Given the description of an element on the screen output the (x, y) to click on. 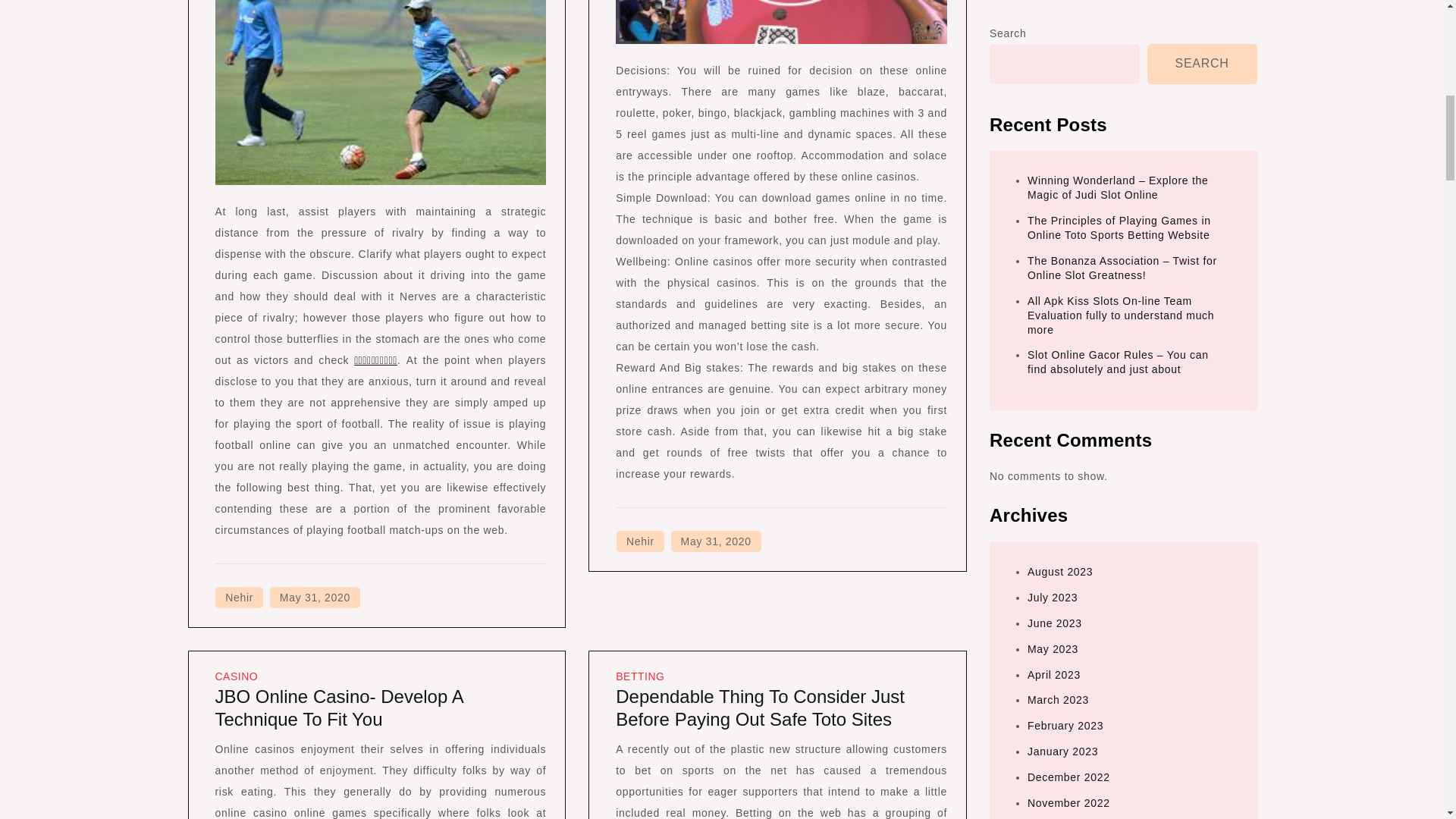
CASINO (237, 676)
JBO Online Casino- Develop A Technique To Fit You (339, 707)
Nehir (239, 597)
BETTING (639, 676)
Nehir (639, 541)
May 31, 2020 (716, 541)
May 31, 2020 (314, 597)
